Given the description of an element on the screen output the (x, y) to click on. 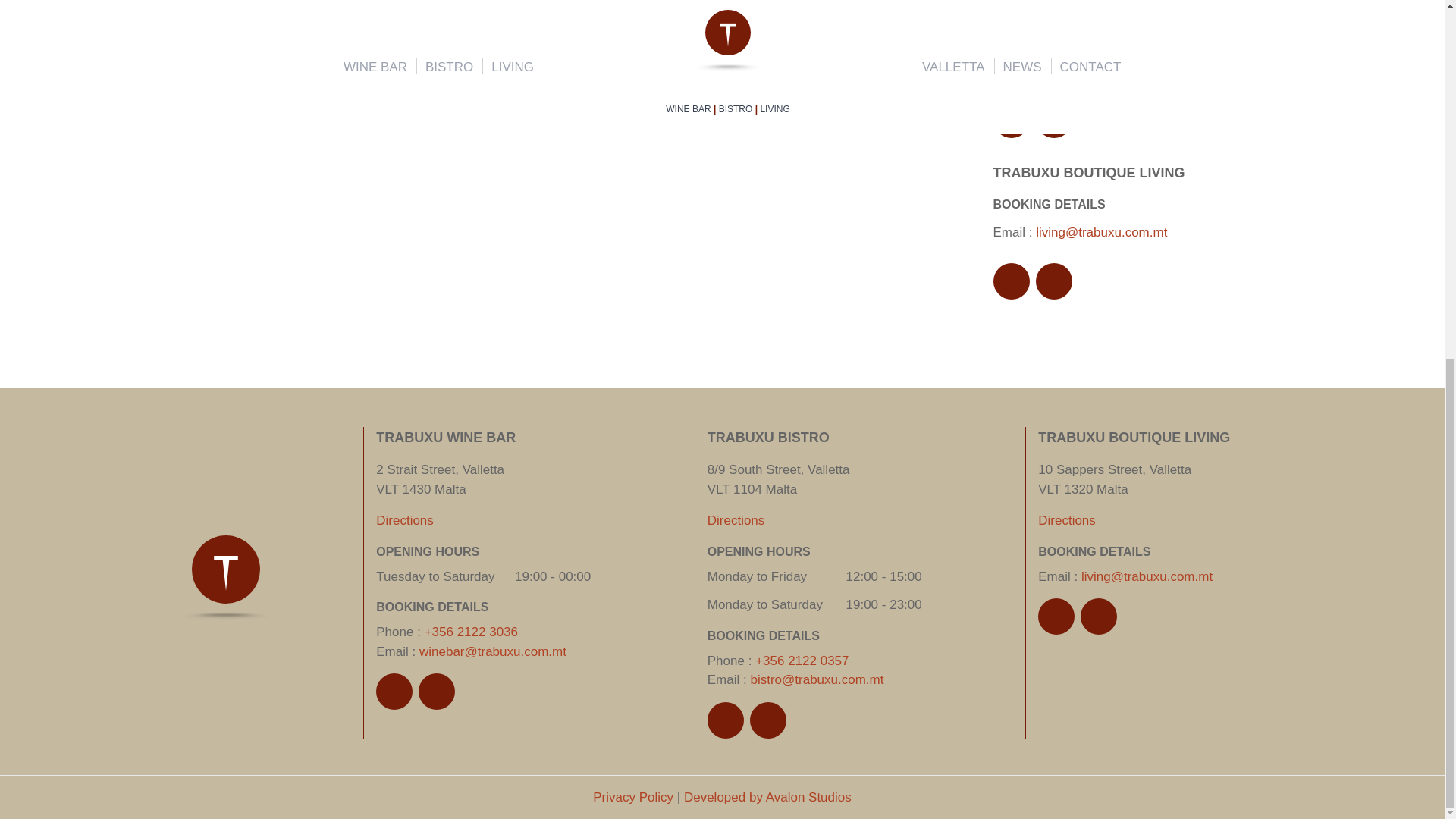
Directions (1067, 520)
Privacy Policy (632, 797)
Directions (404, 520)
Developed by Avalon Studios (767, 797)
Directions (736, 520)
